Given the description of an element on the screen output the (x, y) to click on. 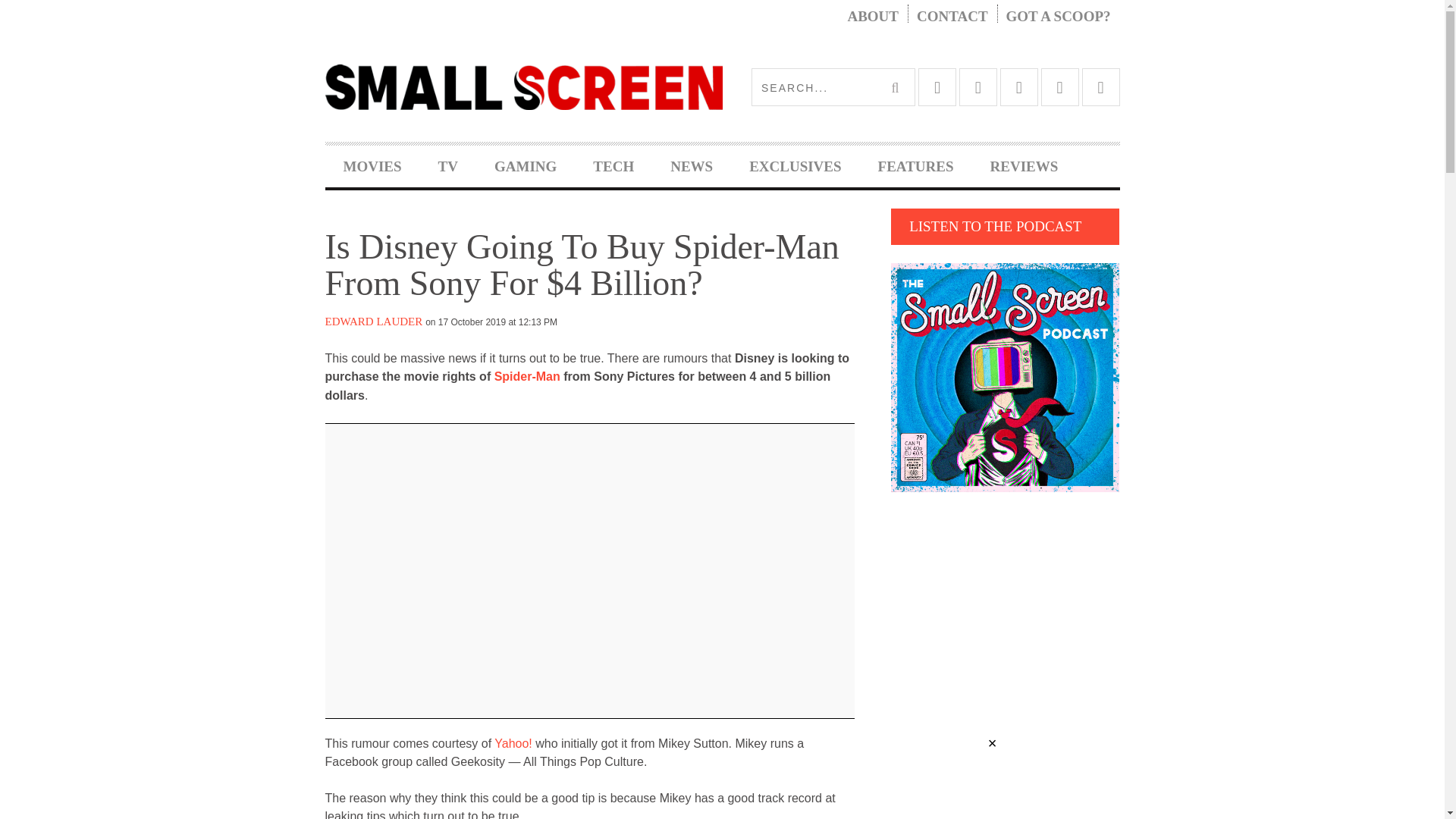
GOT A SCOOP? (1058, 16)
Posts by Edward Lauder (373, 321)
CONTACT (952, 16)
ABOUT (872, 16)
Small Screen (523, 86)
